Given the description of an element on the screen output the (x, y) to click on. 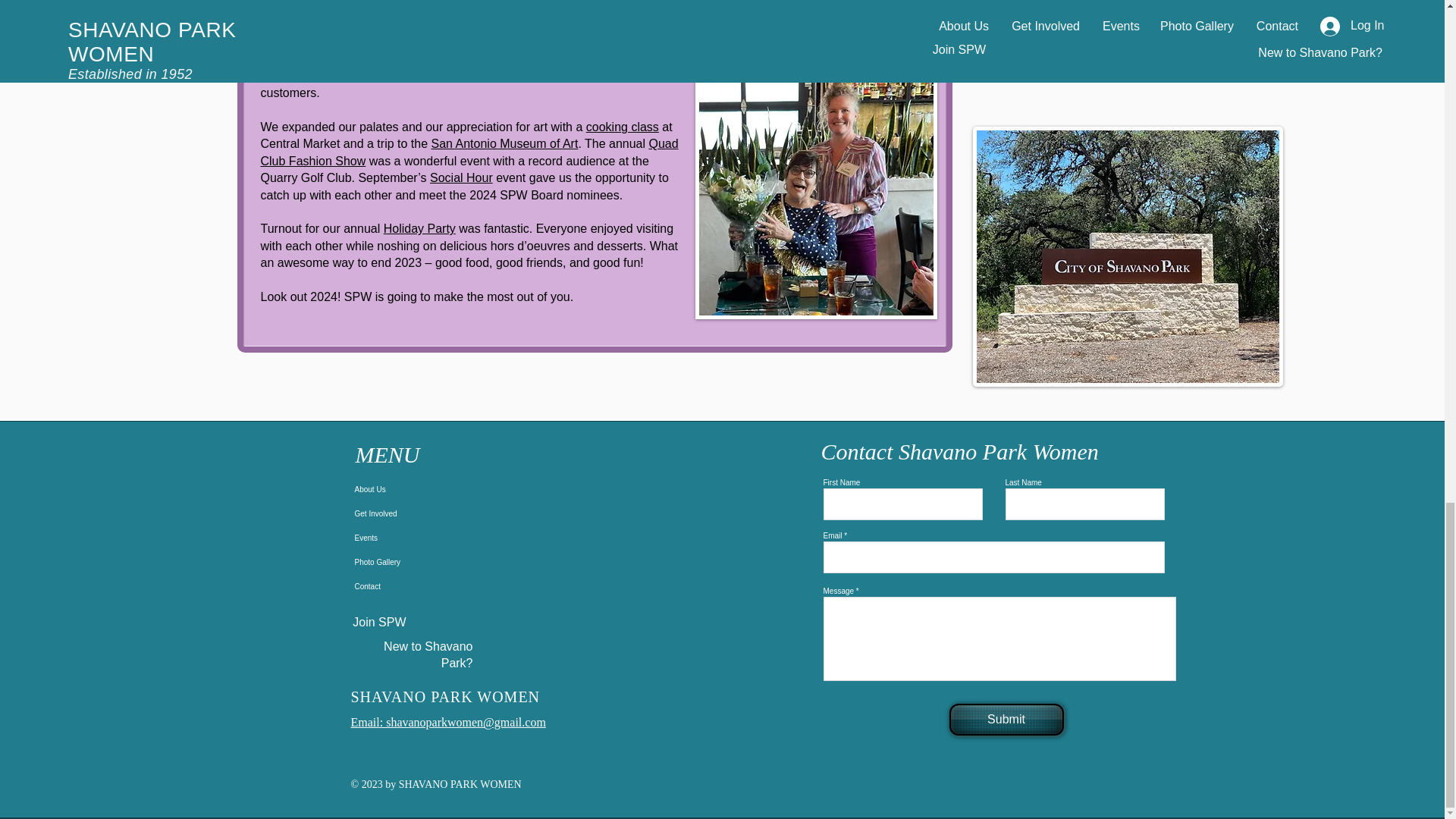
Native Plant Wildscape Demonstration Garden (462, 50)
cooking class (622, 126)
Quad Club Fashion Show (469, 152)
Social Hour (461, 177)
SAWS (497, 58)
San Antonio Museum of Art (504, 143)
Holiday Party (419, 228)
